Given the description of an element on the screen output the (x, y) to click on. 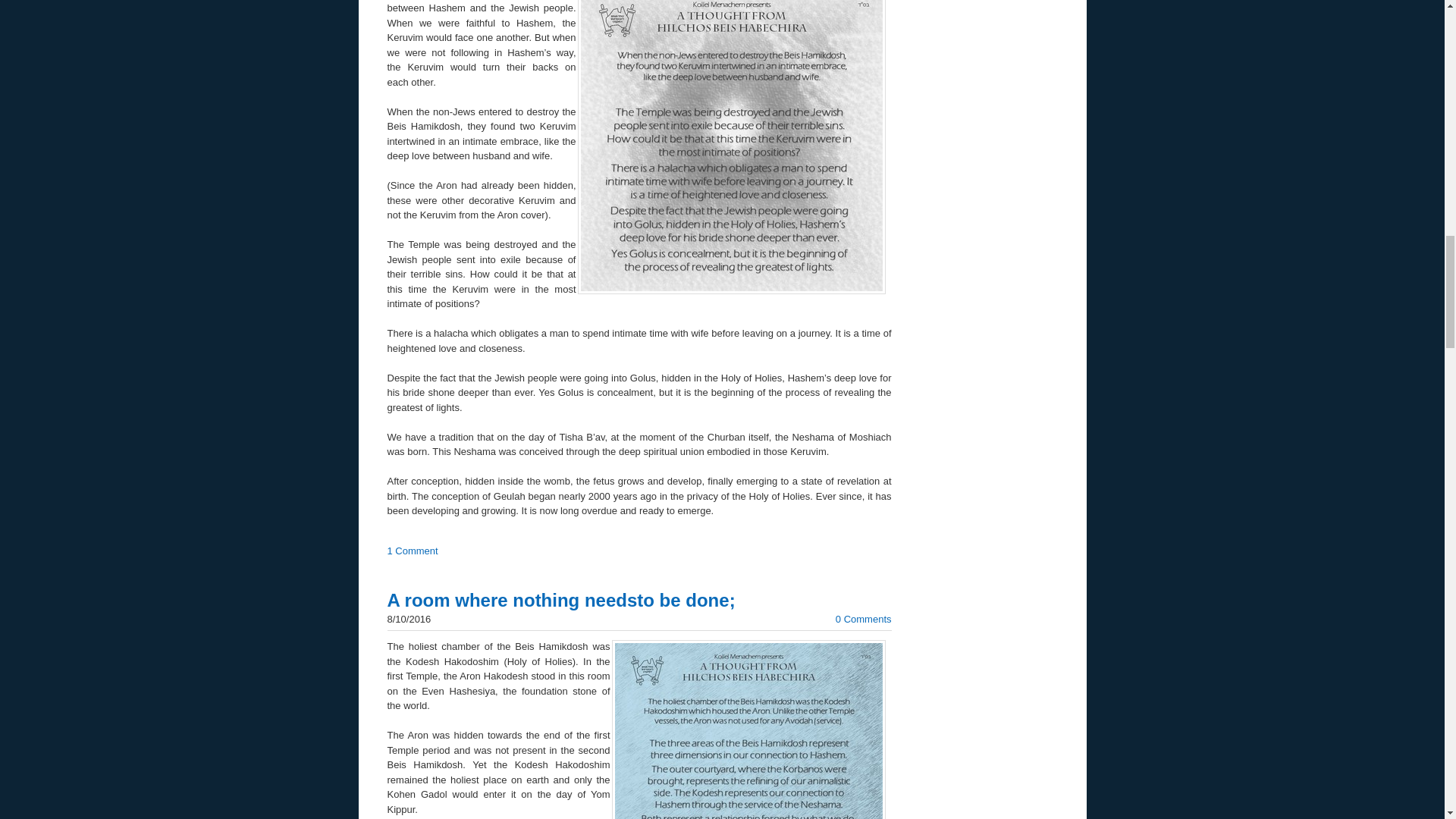
0 Comments (863, 618)
1 Comment (412, 550)
A room where nothing needsto be done; (561, 599)
